Given the description of an element on the screen output the (x, y) to click on. 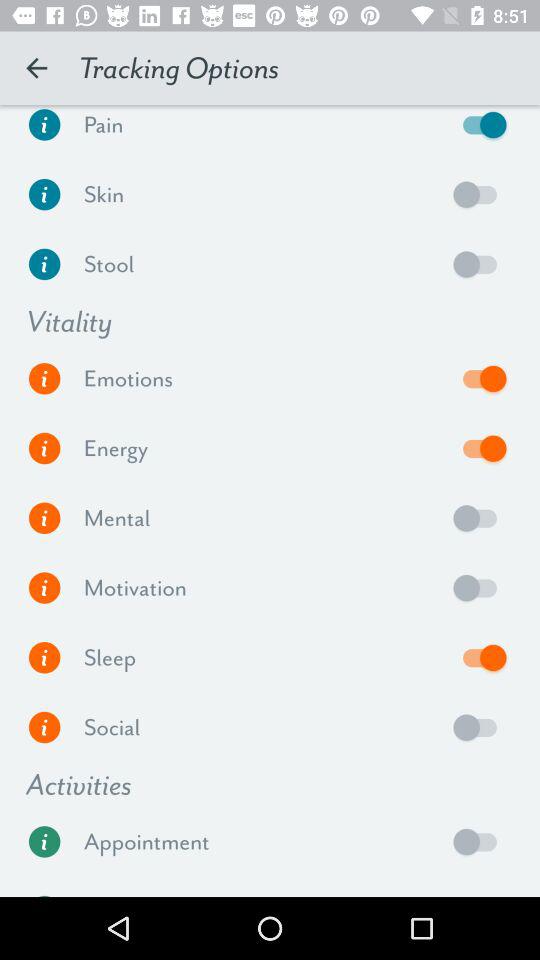
energy level informaion (44, 448)
